Given the description of an element on the screen output the (x, y) to click on. 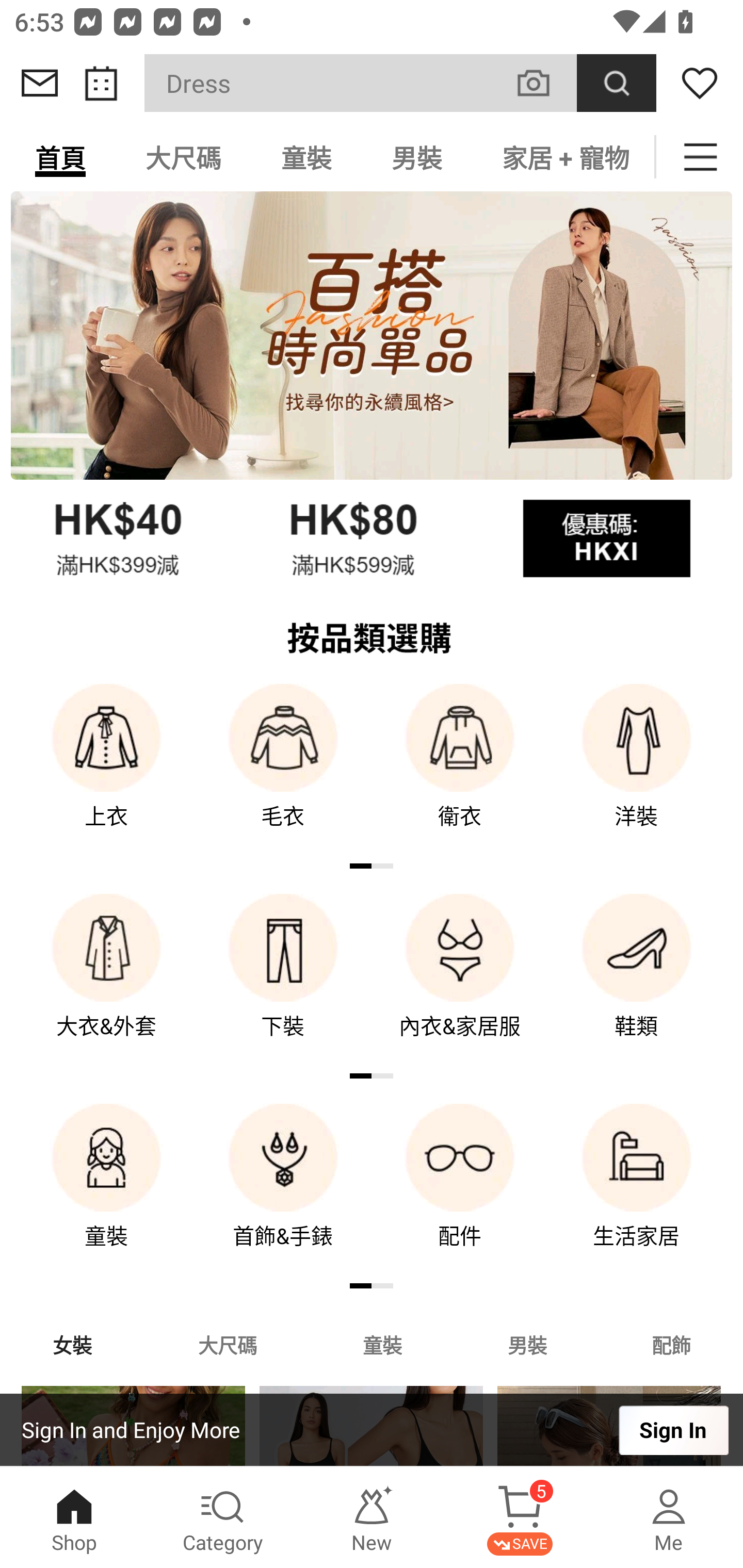
Wishlist (699, 82)
VISUAL SEARCH (543, 82)
首頁 (60, 156)
大尺碼 (183, 156)
童裝 (306, 156)
男裝 (416, 156)
家居 + 寵物 (563, 156)
上衣 (105, 769)
毛衣 (282, 769)
衛衣 (459, 769)
洋裝 (636, 769)
大衣&外套 (105, 979)
下裝 (282, 979)
內衣&家居服 (459, 979)
鞋類 (636, 979)
童裝 (105, 1189)
首飾&手錶 (282, 1189)
配件 (459, 1189)
生活家居 (636, 1189)
女裝 (72, 1344)
大尺碼 (226, 1344)
童裝 (381, 1344)
男裝 (527, 1344)
配飾 (671, 1344)
Sign In and Enjoy More Sign In (371, 1429)
Category (222, 1517)
New (371, 1517)
Cart 5 SAVE (519, 1517)
Me (668, 1517)
